Given the description of an element on the screen output the (x, y) to click on. 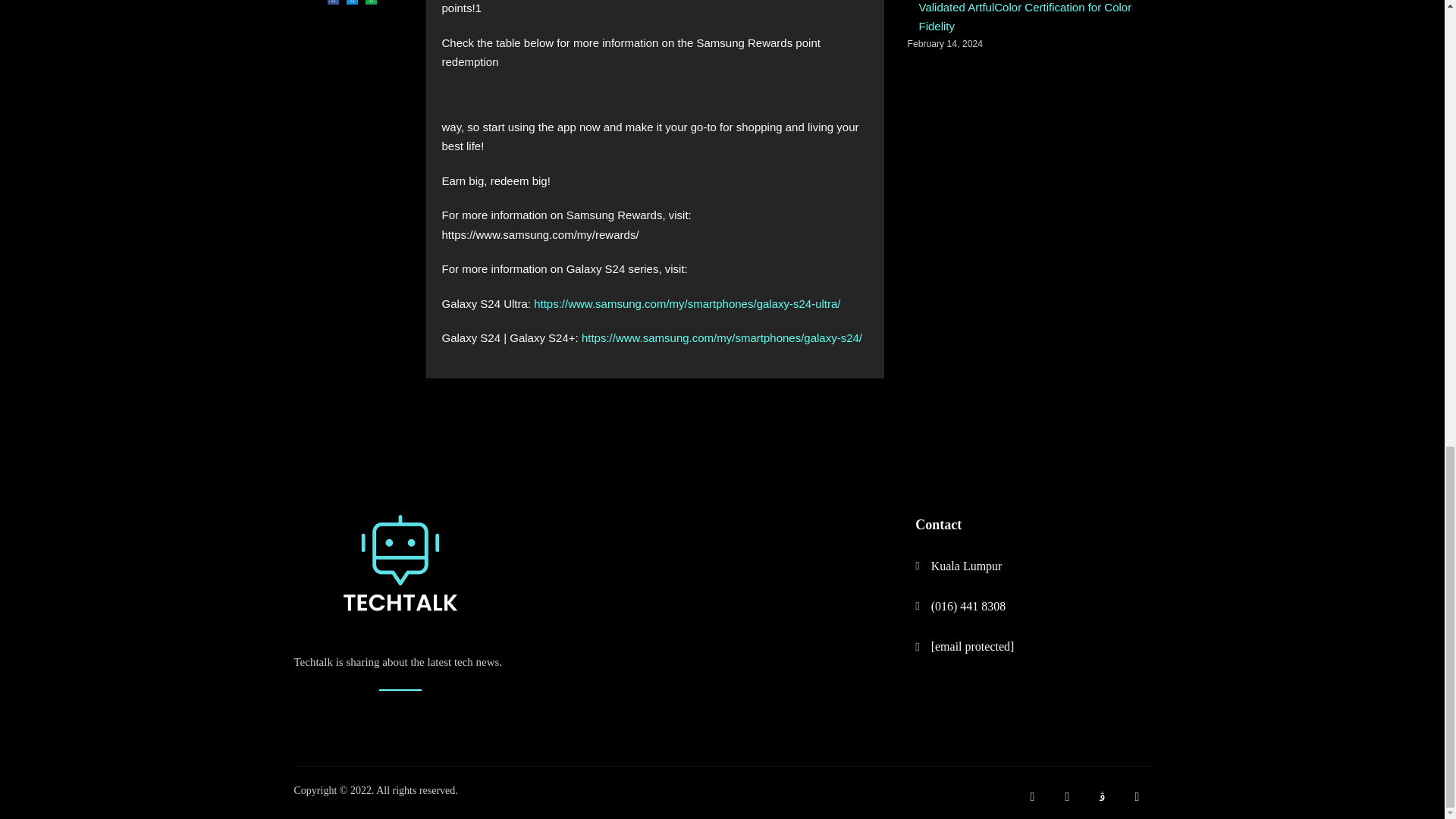
Kuala Lumpur (1017, 566)
